Given the description of an element on the screen output the (x, y) to click on. 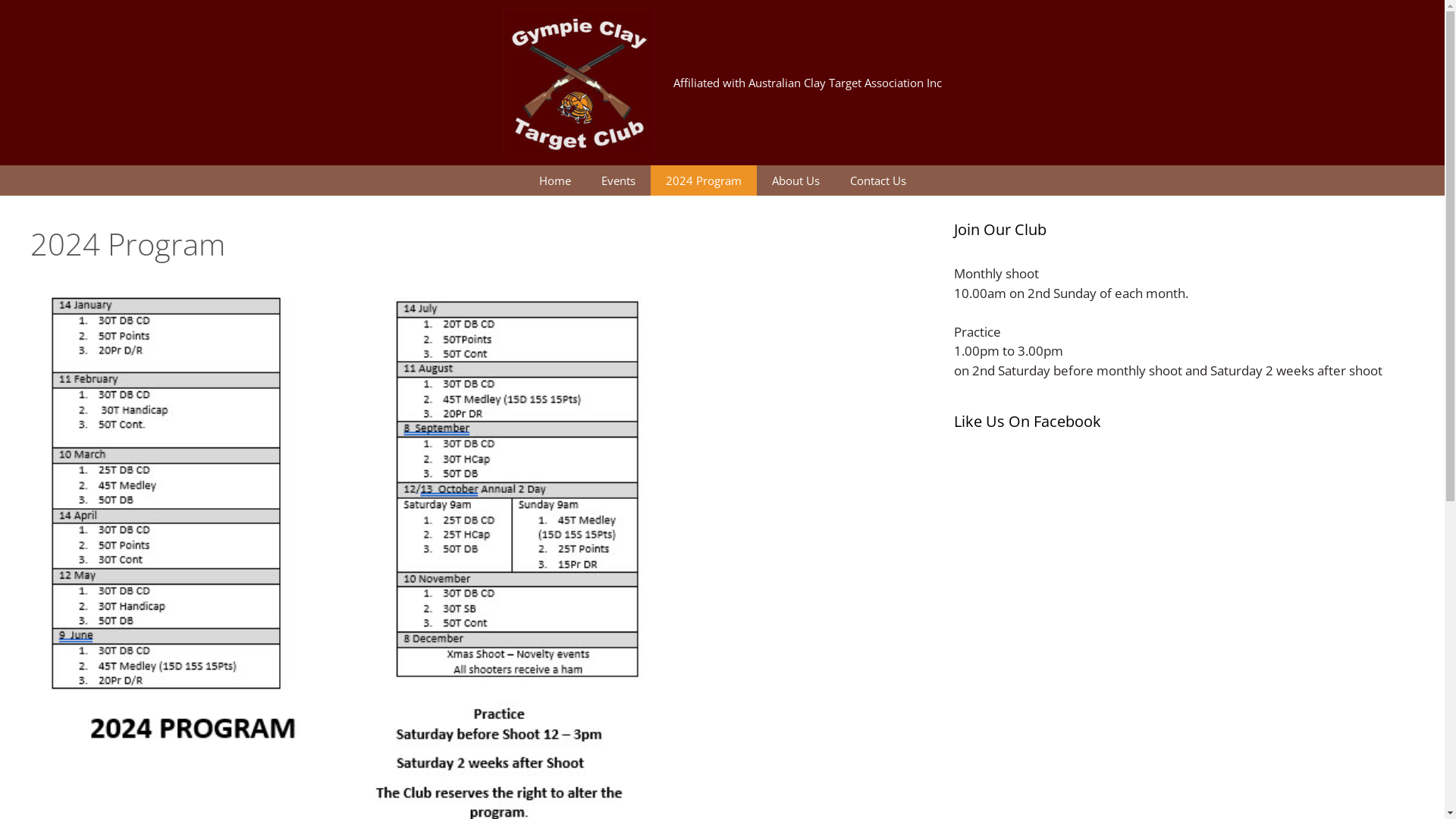
Events Element type: text (617, 180)
About Us Element type: text (795, 180)
Contact Us Element type: text (877, 180)
2024 Program Element type: text (703, 180)
Home Element type: text (554, 180)
